Given the description of an element on the screen output the (x, y) to click on. 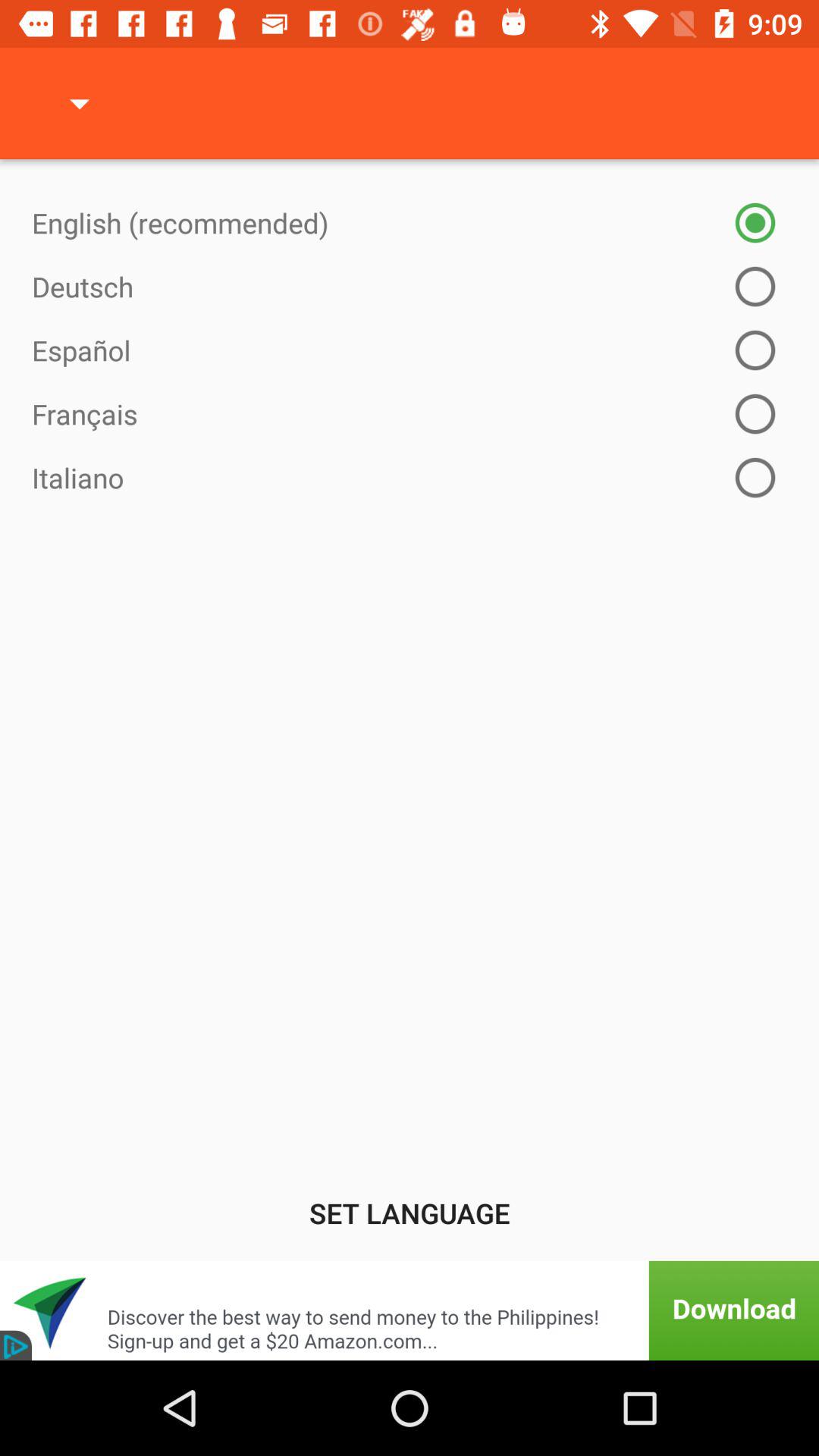
open advertisement (409, 1310)
